Given the description of an element on the screen output the (x, y) to click on. 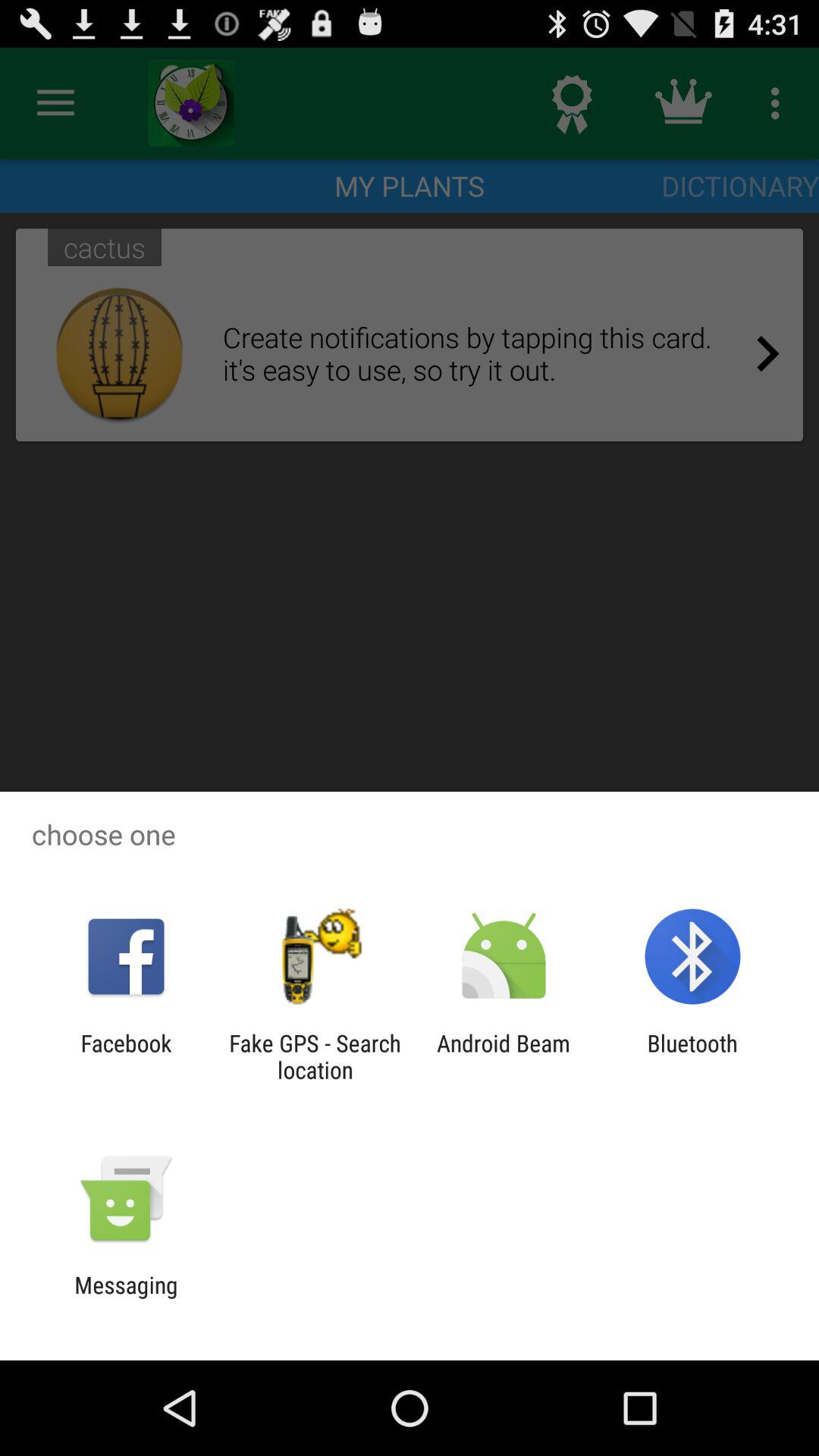
select the app next to android beam icon (692, 1056)
